Given the description of an element on the screen output the (x, y) to click on. 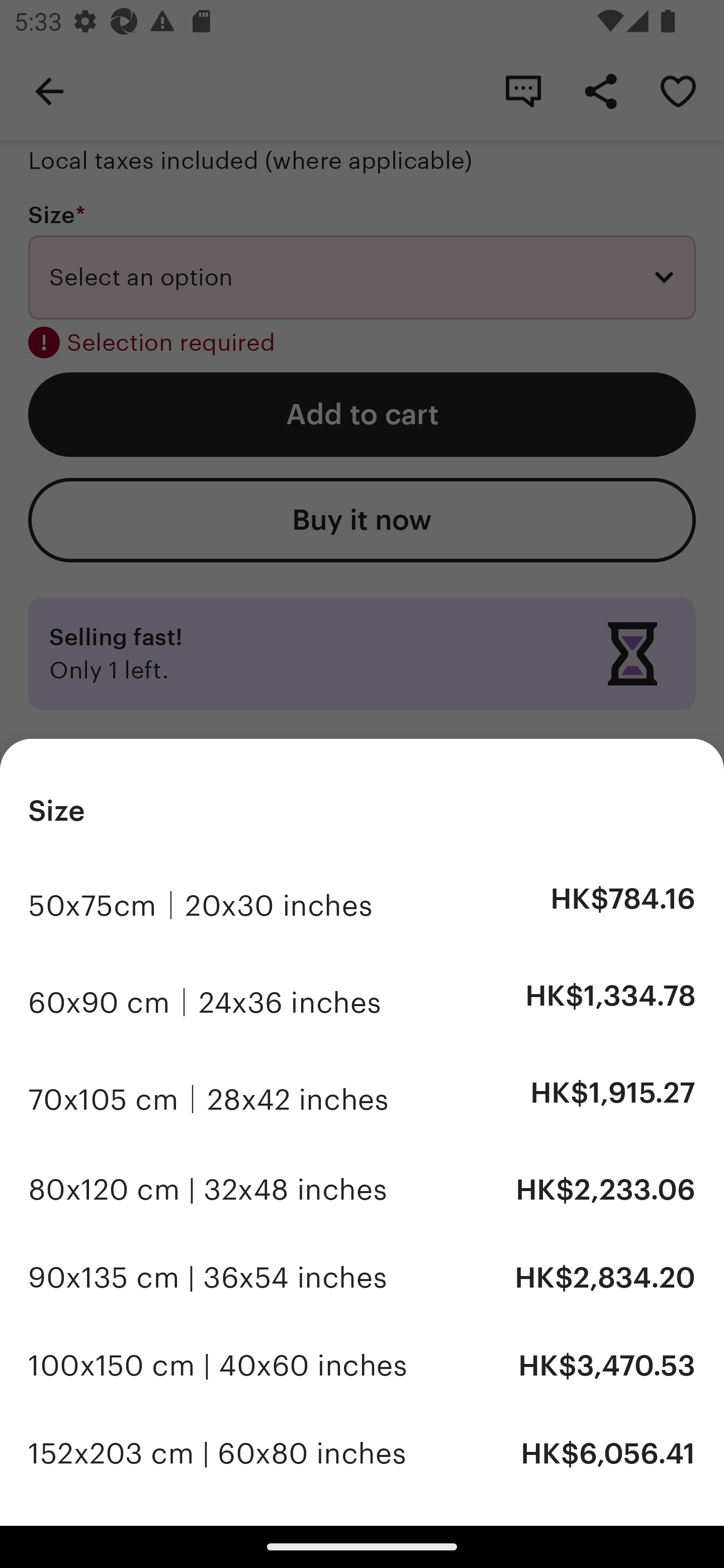
50x75cm｜20x30 inches HK$784.16 (362, 902)
60x90 cm｜24x36 inches HK$1,334.78 (362, 999)
70x105 cm｜28x42 inches HK$1,915.27 (362, 1097)
80x120 cm | 32x48 inches HK$2,233.06 (362, 1190)
90x135 cm | 36x54 inches HK$2,834.20 (362, 1277)
100x150 cm | 40x60 inches HK$3,470.53 (362, 1365)
152x203 cm | 60x80 inches HK$6,056.41 (362, 1453)
